Given the description of an element on the screen output the (x, y) to click on. 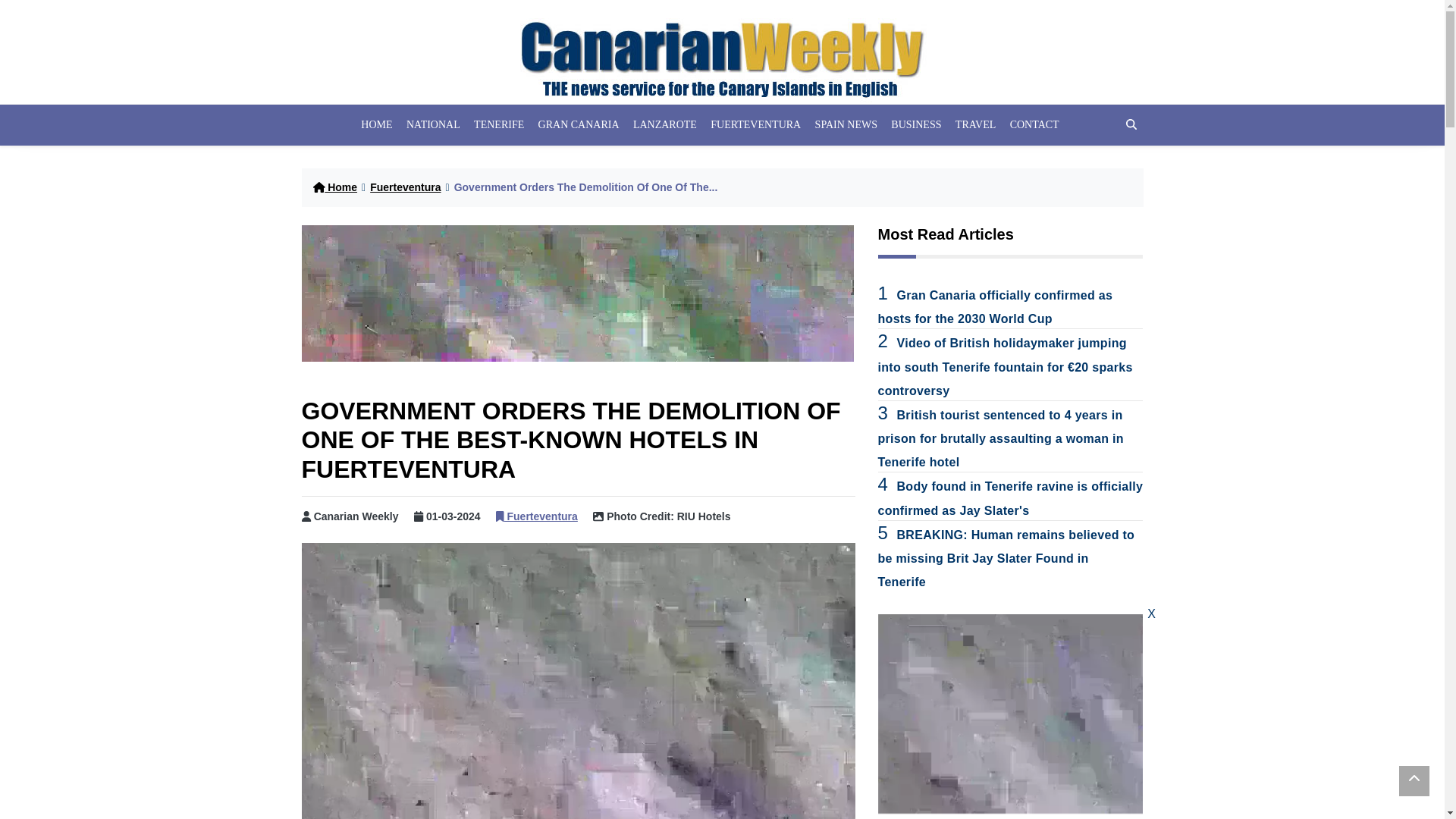
SPAIN NEWS (845, 124)
GRAN CANARIA (578, 124)
Home (334, 186)
FUERTEVENTURA (755, 124)
Fuerteventura (405, 186)
CONTACT (1034, 124)
Fuerteventura (537, 516)
HOME (376, 124)
TENERIFE (498, 124)
TRAVEL (976, 124)
Weddings In Tenerife (577, 293)
LANZAROTE (664, 124)
NATIONAL (433, 124)
BUSINESS (915, 124)
